Given the description of an element on the screen output the (x, y) to click on. 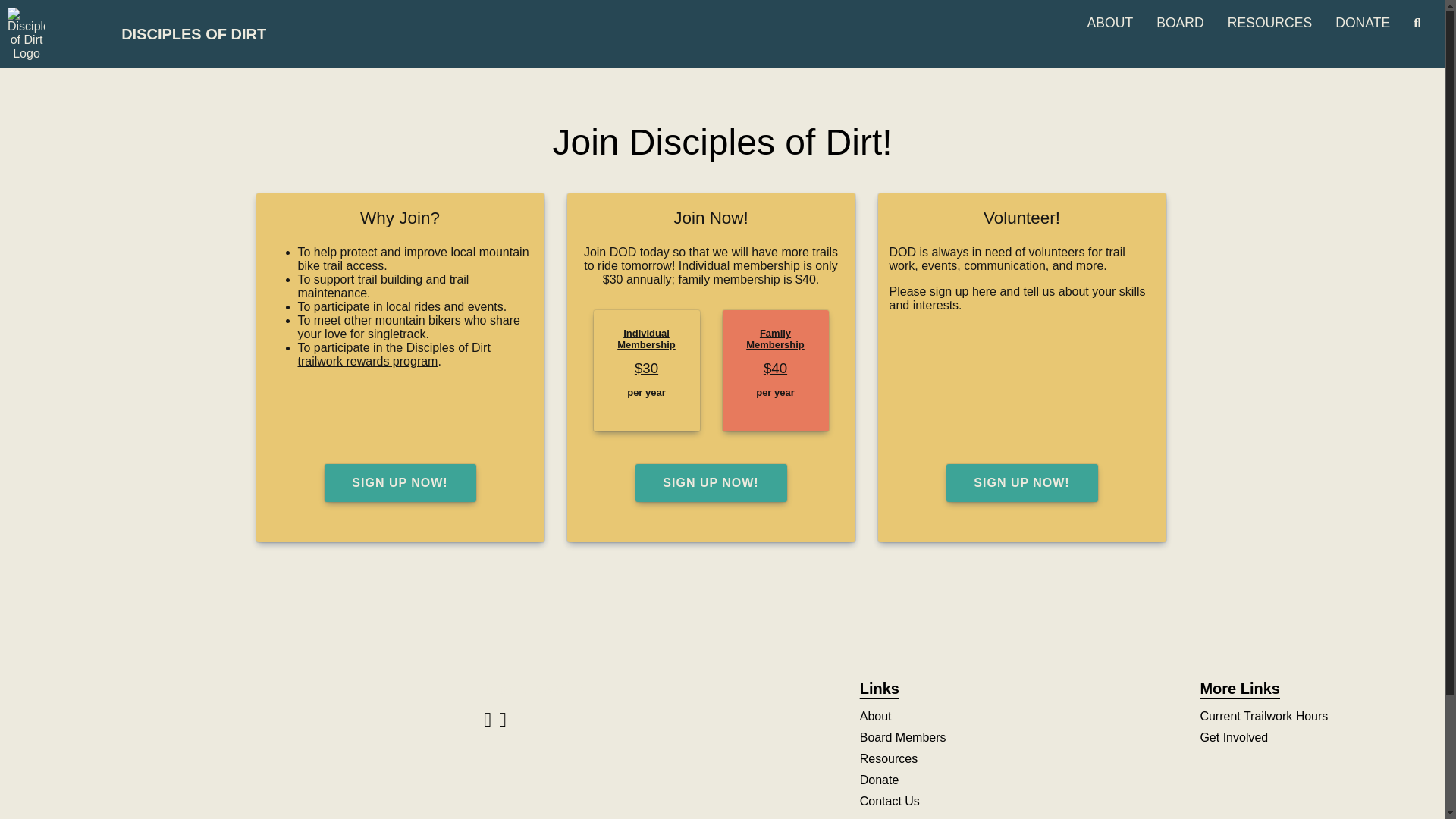
RESOURCES (1269, 22)
SIGN UP NOW! (710, 483)
here (983, 291)
SIGN UP NOW! (1021, 483)
DONATE (1362, 22)
SIGN UP NOW! (399, 483)
SIGN UP NOW! (400, 483)
SIGN UP NOW! (710, 483)
DISCIPLES OF DIRT (186, 33)
BOARD (1180, 22)
